Given the description of an element on the screen output the (x, y) to click on. 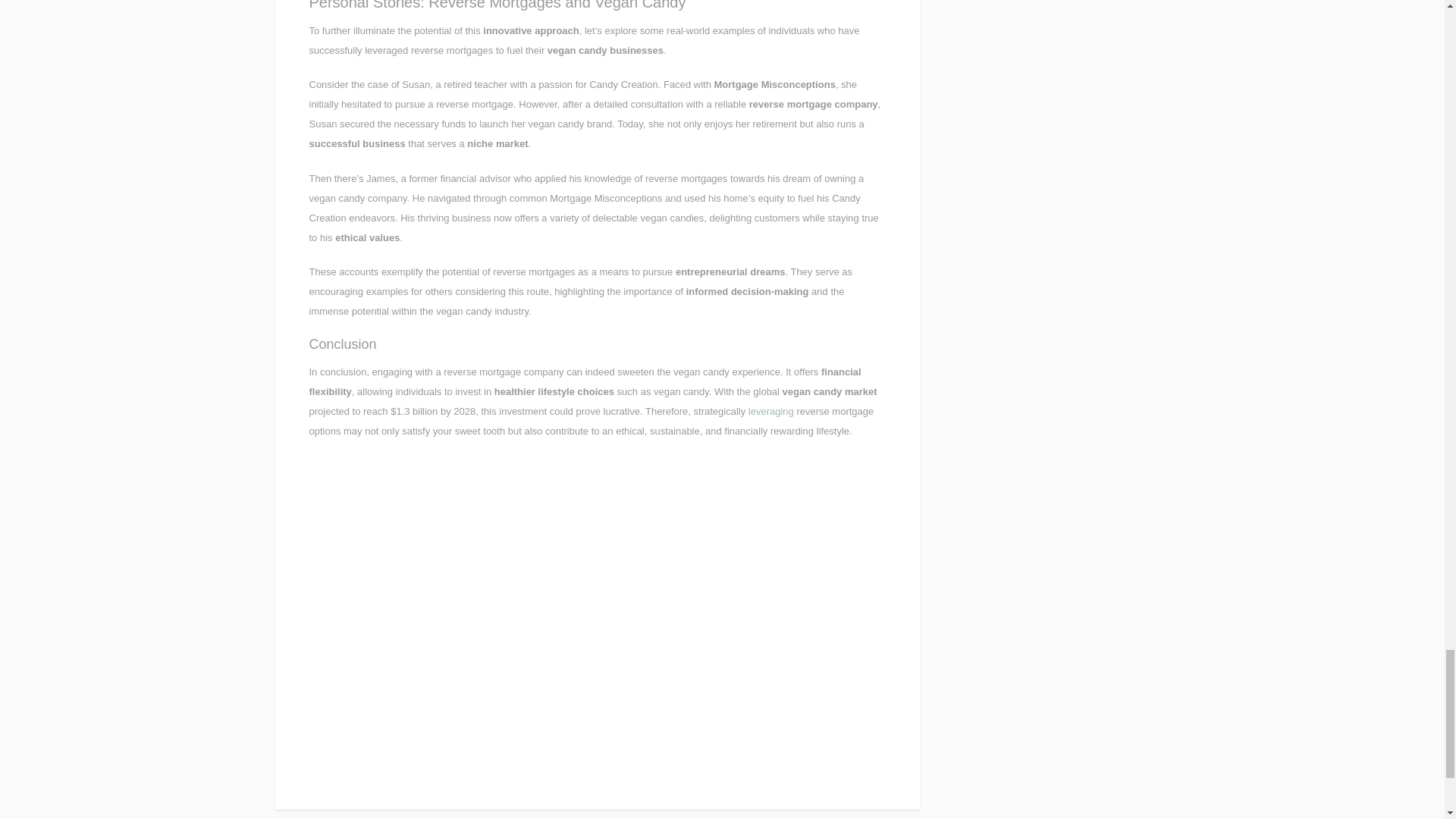
leveraging (770, 410)
